Given the description of an element on the screen output the (x, y) to click on. 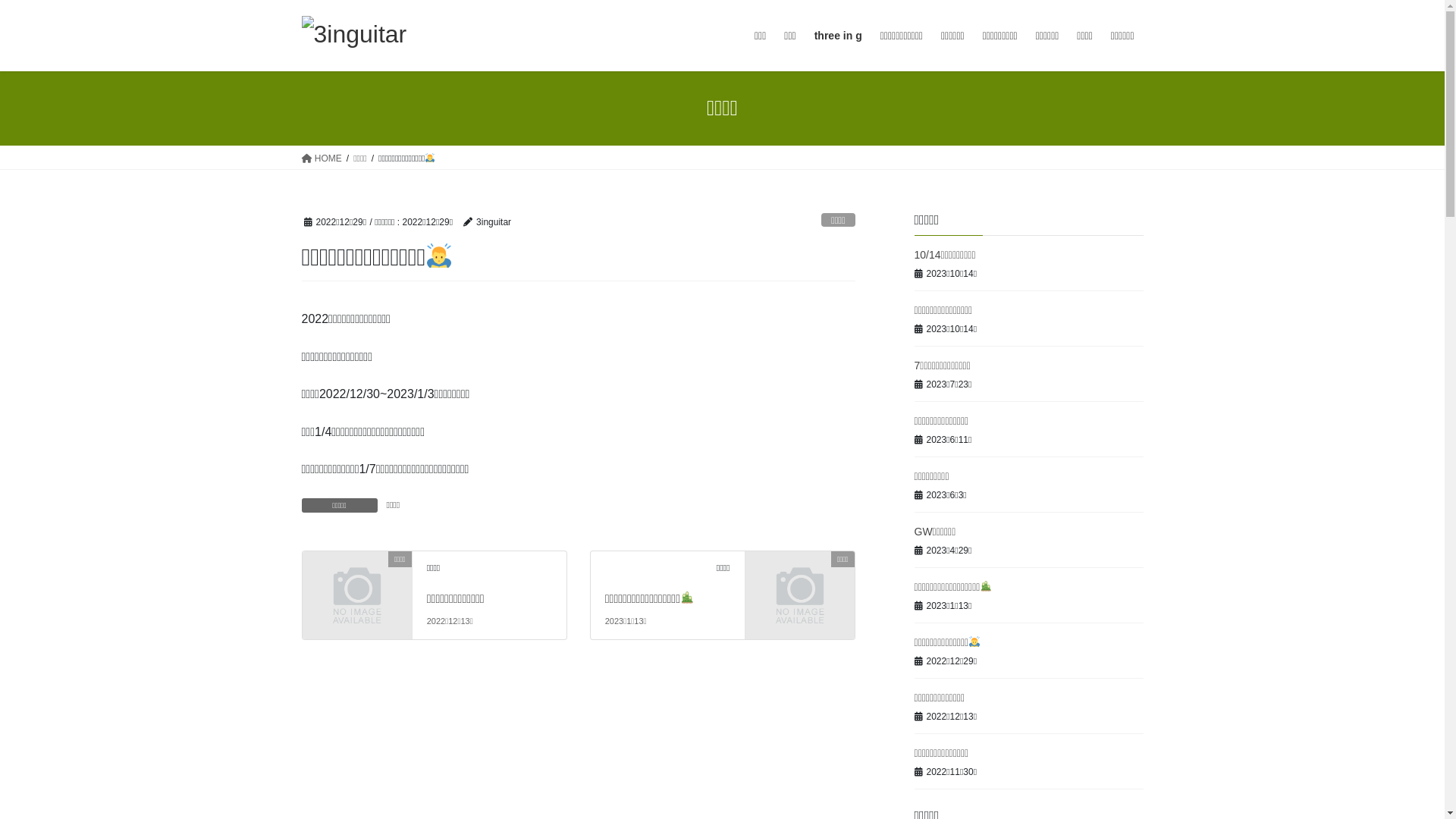
three in g Element type: text (838, 36)
HOME Element type: text (321, 157)
